Given the description of an element on the screen output the (x, y) to click on. 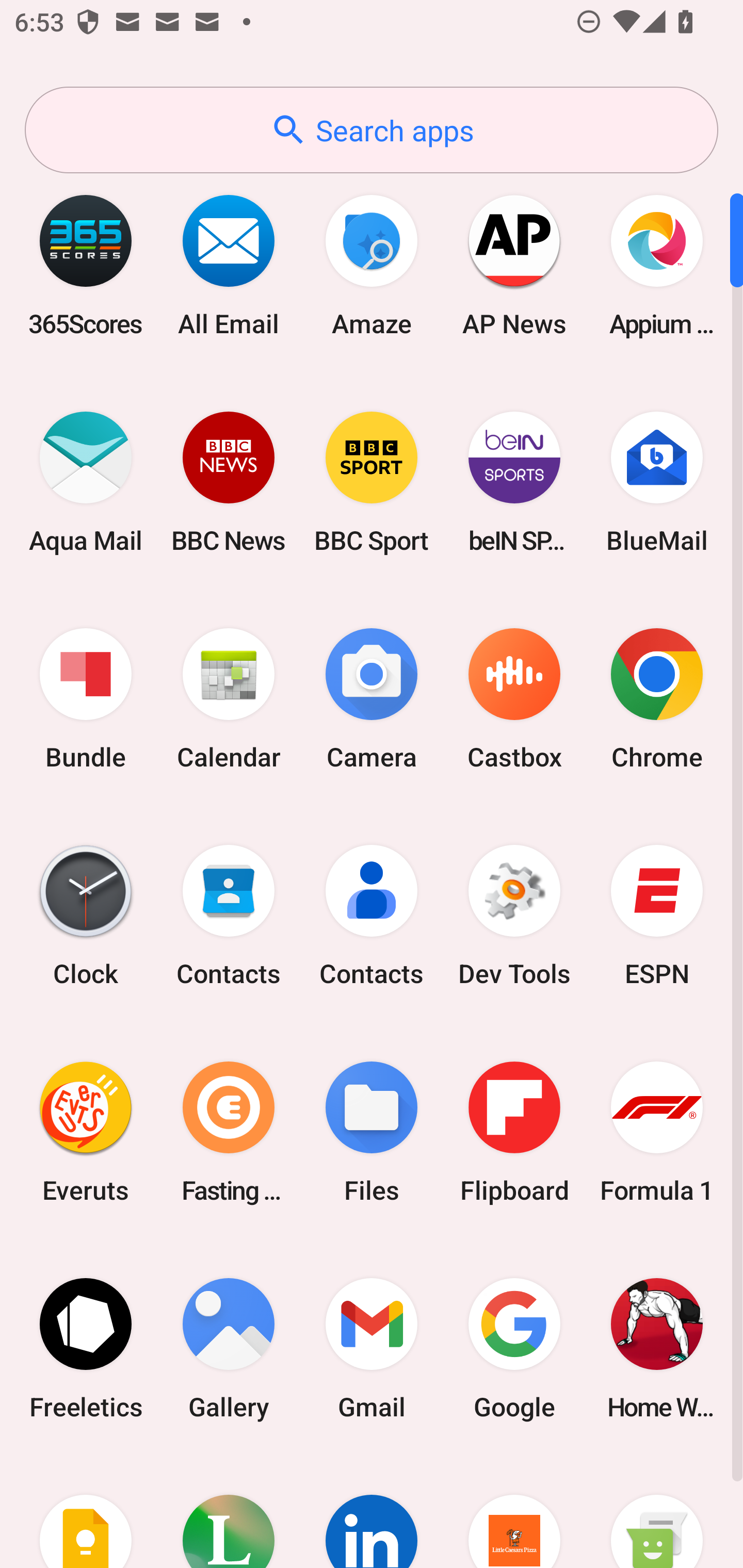
  Search apps (371, 130)
365Scores (85, 264)
All Email (228, 264)
Amaze (371, 264)
AP News (514, 264)
Appium Settings (656, 264)
Aqua Mail (85, 482)
BBC News (228, 482)
BBC Sport (371, 482)
beIN SPORTS (514, 482)
BlueMail (656, 482)
Bundle (85, 699)
Calendar (228, 699)
Camera (371, 699)
Castbox (514, 699)
Chrome (656, 699)
Clock (85, 915)
Contacts (228, 915)
Contacts (371, 915)
Dev Tools (514, 915)
ESPN (656, 915)
Everuts (85, 1131)
Fasting Coach (228, 1131)
Files (371, 1131)
Flipboard (514, 1131)
Formula 1 (656, 1131)
Freeletics (85, 1348)
Gallery (228, 1348)
Gmail (371, 1348)
Google (514, 1348)
Home Workout (656, 1348)
